Given the description of an element on the screen output the (x, y) to click on. 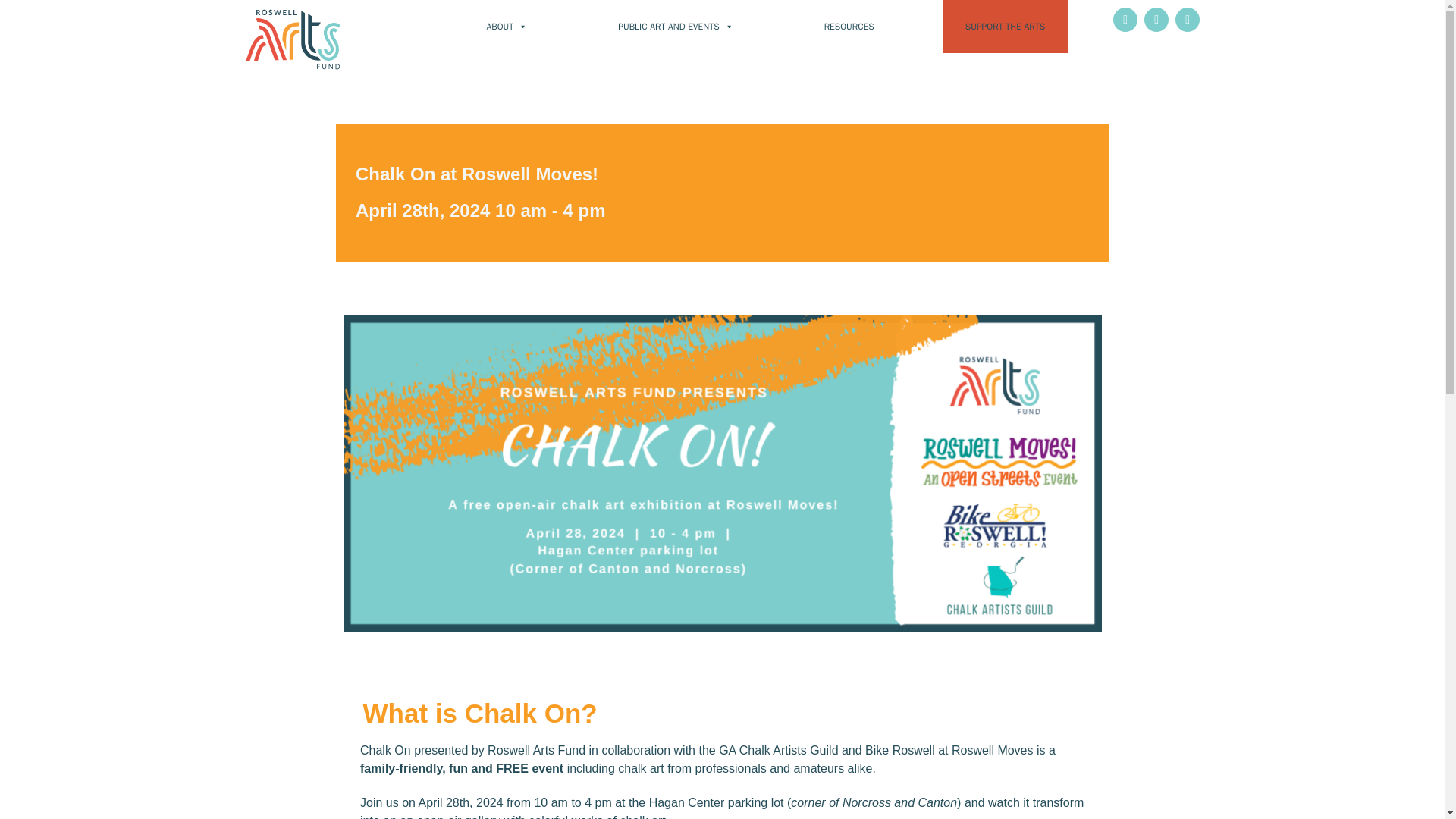
PUBLIC ART AND EVENTS (675, 26)
RESOURCES (849, 26)
SUPPORT THE ARTS (1004, 26)
ABOUT (507, 26)
